Given the description of an element on the screen output the (x, y) to click on. 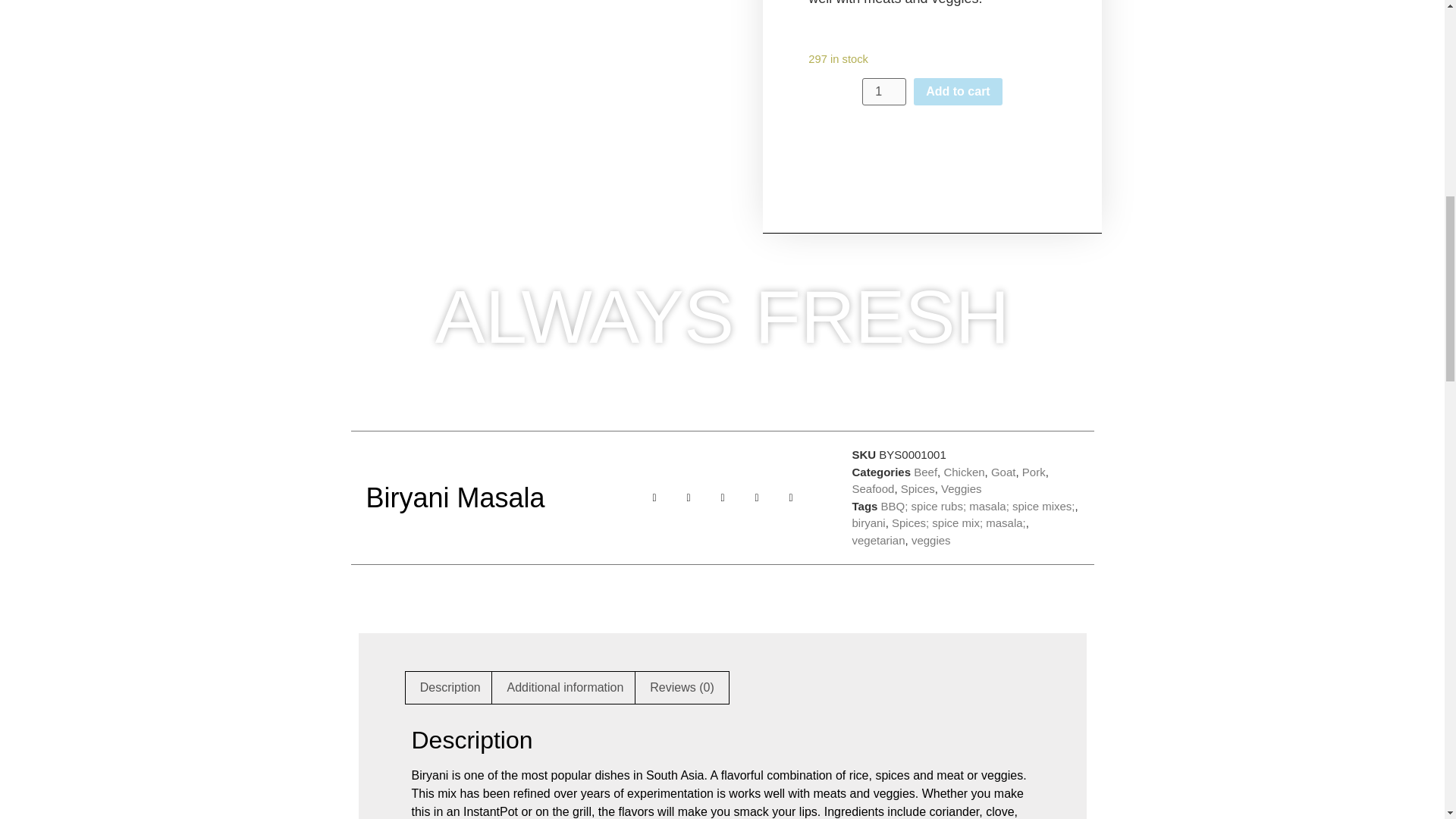
1 (883, 91)
